Given the description of an element on the screen output the (x, y) to click on. 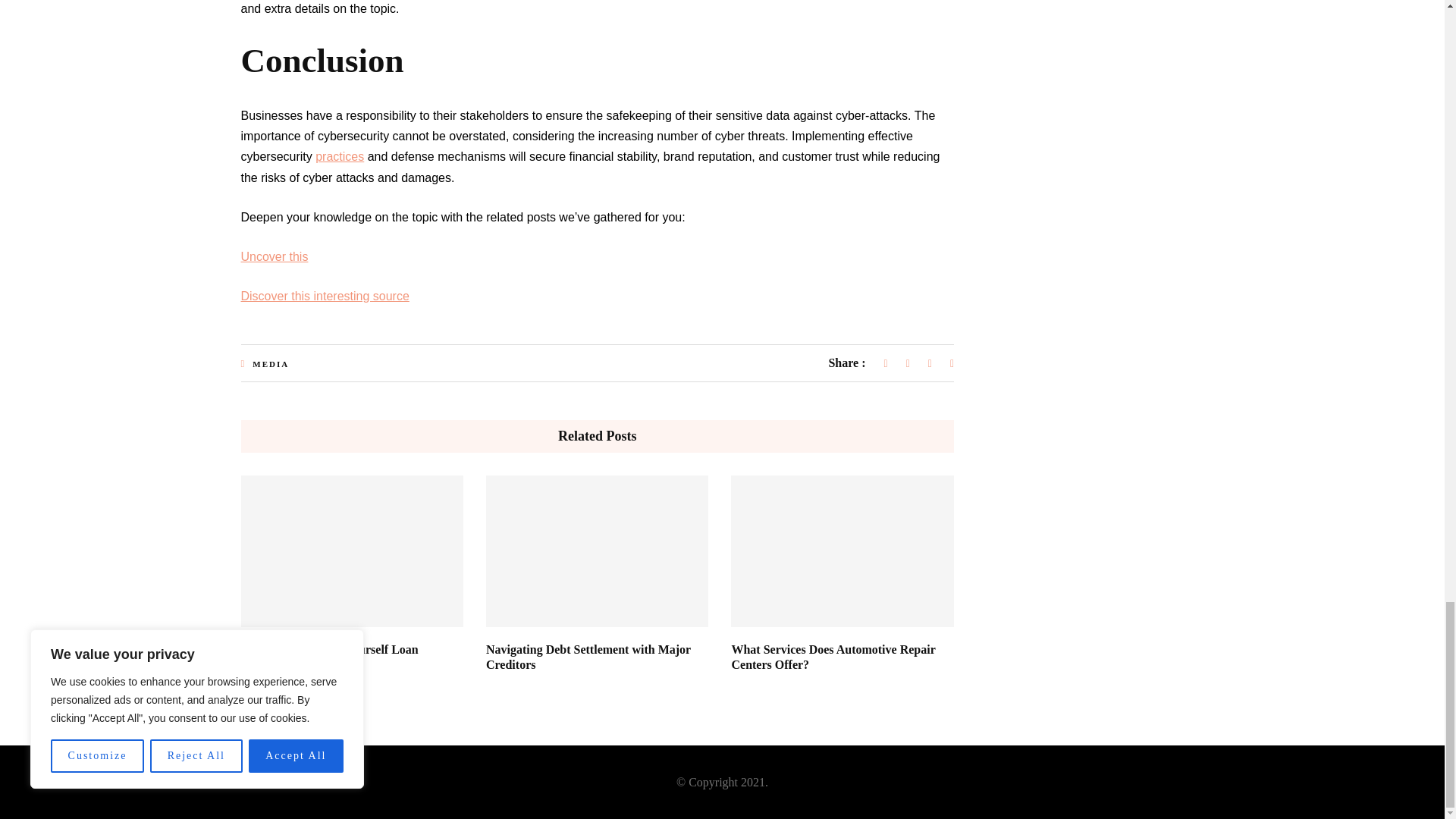
MEDIA (269, 363)
What Services Does Automotive Repair Centers Offer? (832, 656)
How To Get A Do-it-yourself Loan (330, 649)
Discover this interesting source (325, 295)
Navigating Debt Settlement with Major Creditors (588, 656)
Uncover this (274, 256)
practices (339, 155)
